Given the description of an element on the screen output the (x, y) to click on. 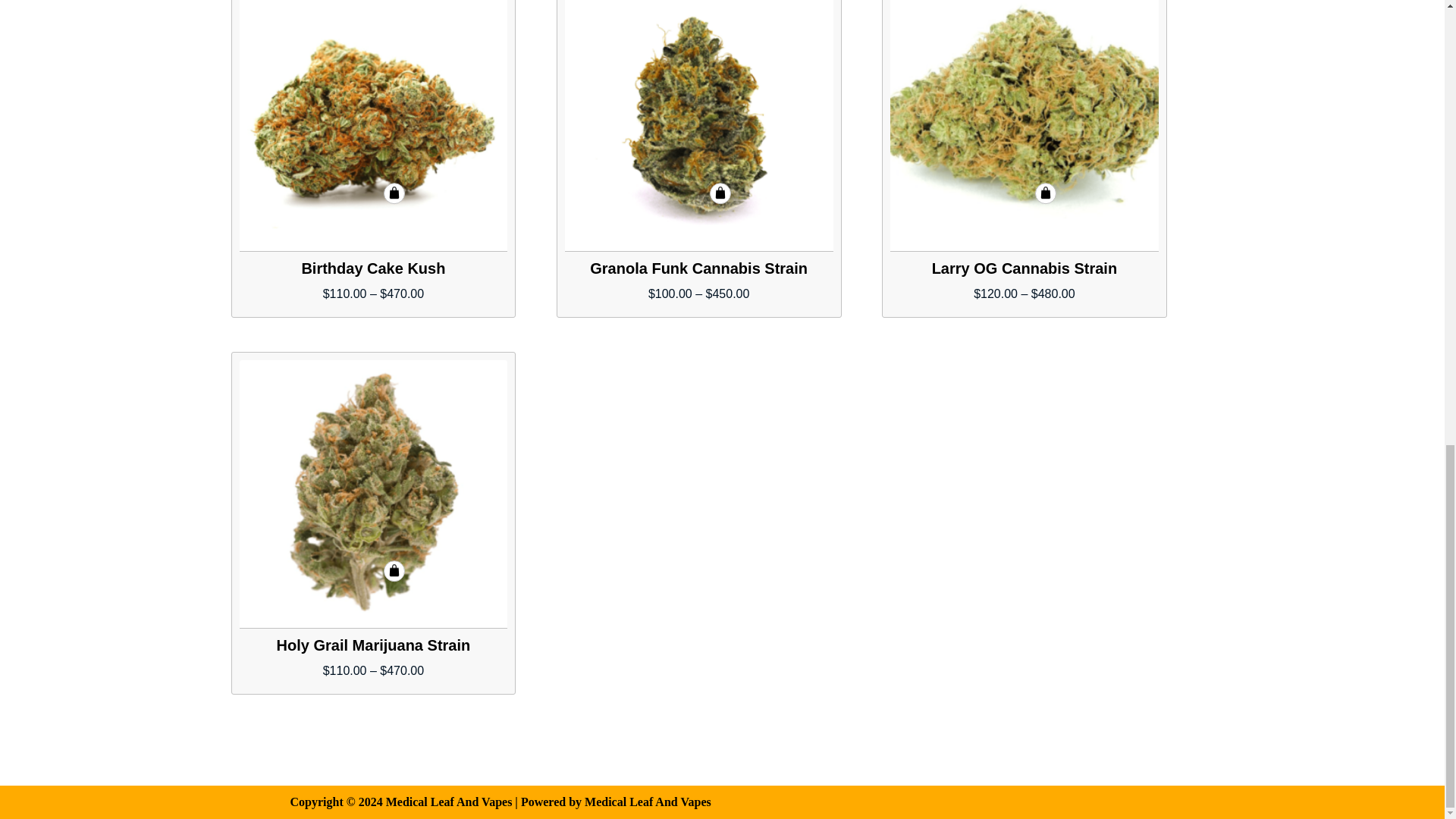
Holy Grail Marijuana Strain (374, 494)
Granola Funk Cannabis Strain (698, 125)
Birthday Cake Kush (374, 125)
Larry OG Cannabis Strain (1023, 125)
